Given the description of an element on the screen output the (x, y) to click on. 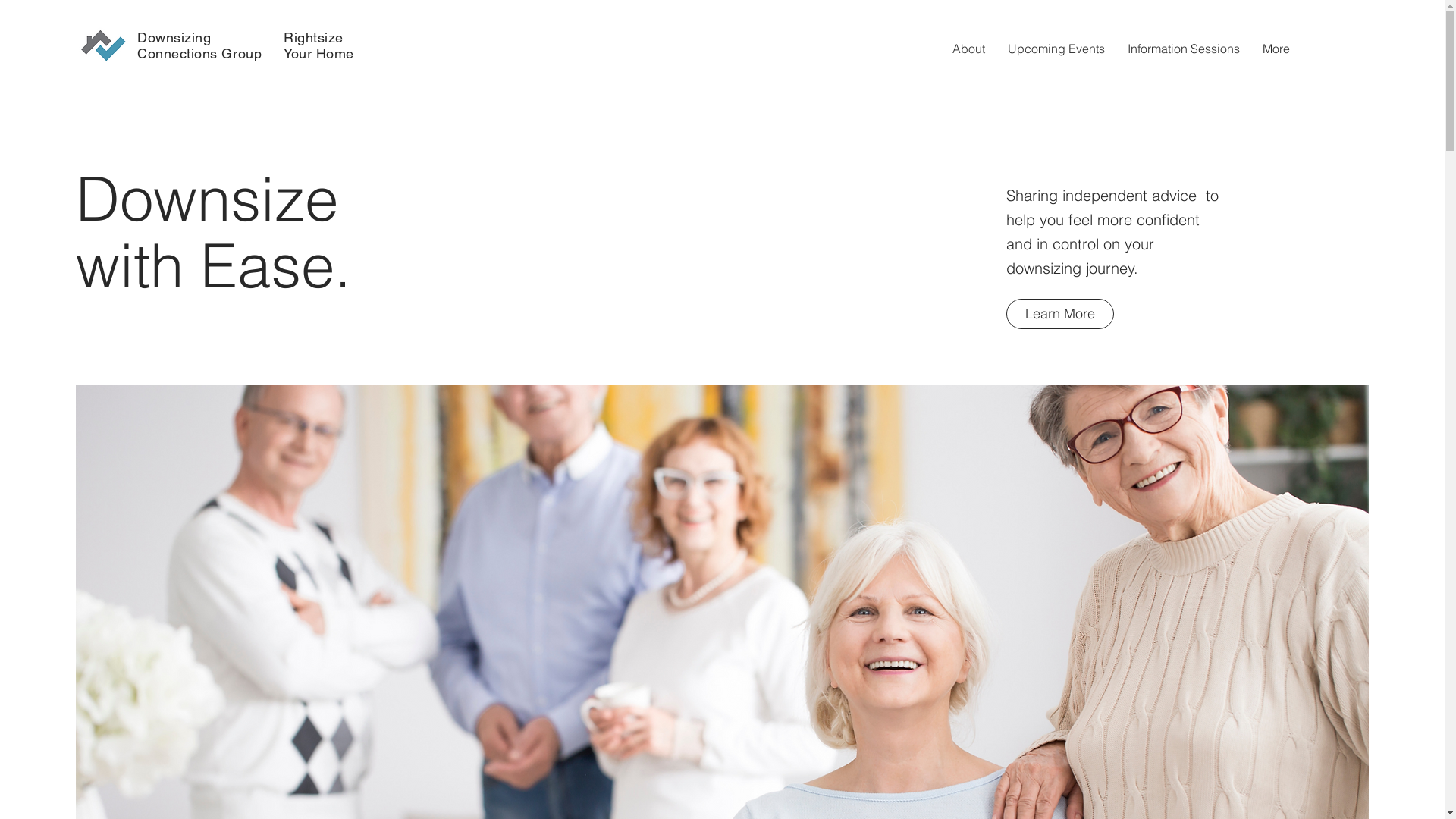
Information Sessions Element type: text (1183, 48)
Rightsize
Your Home Element type: text (318, 45)
Upcoming Events Element type: text (1056, 48)
Learn More Element type: text (1059, 313)
About Element type: text (968, 48)
Downsizing Connections Group Element type: text (199, 45)
